Given the description of an element on the screen output the (x, y) to click on. 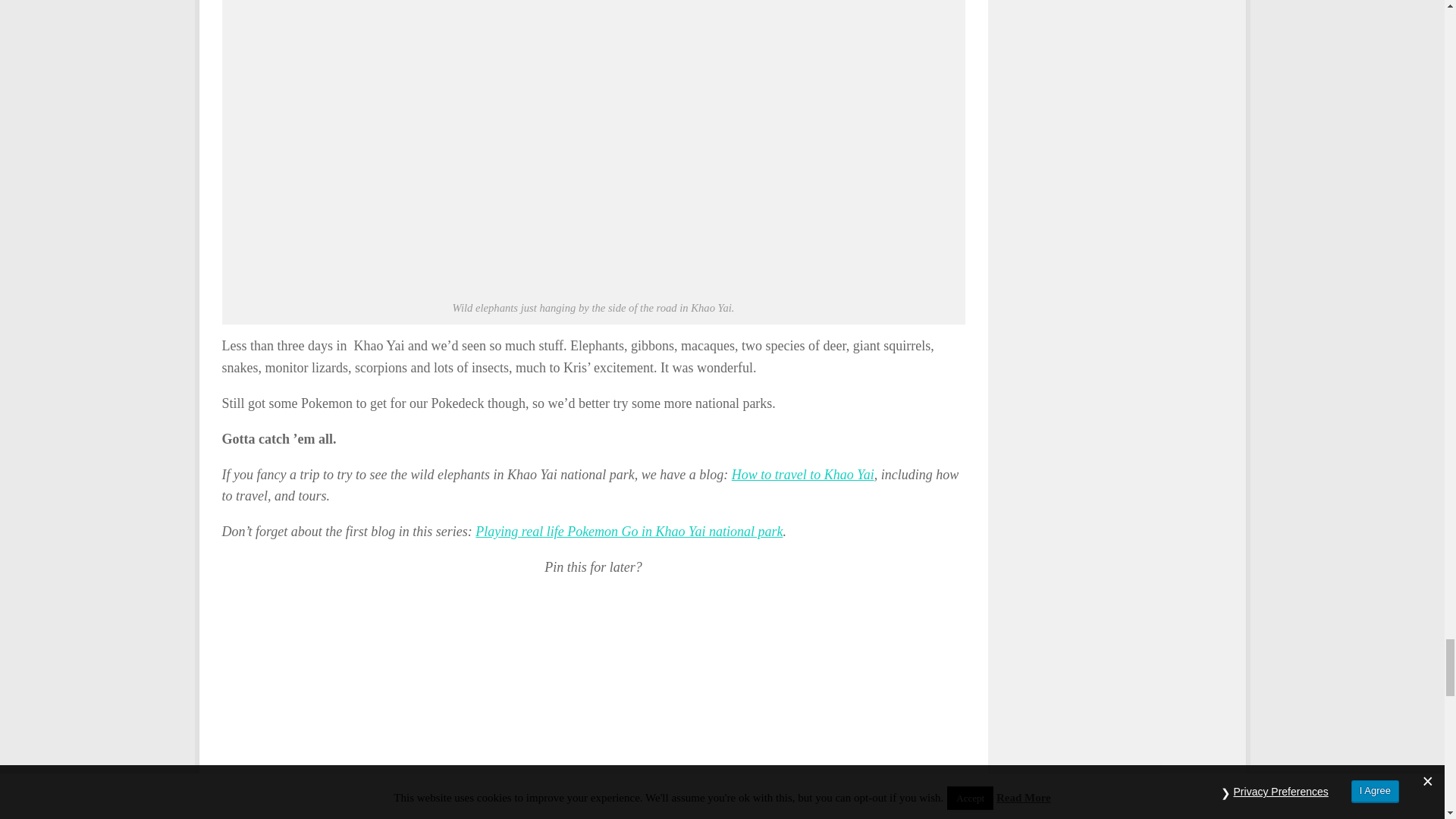
Playing real life Pokemon Go in Khao Yai national park (629, 531)
How to travel to Khao Yai (803, 474)
